Given the description of an element on the screen output the (x, y) to click on. 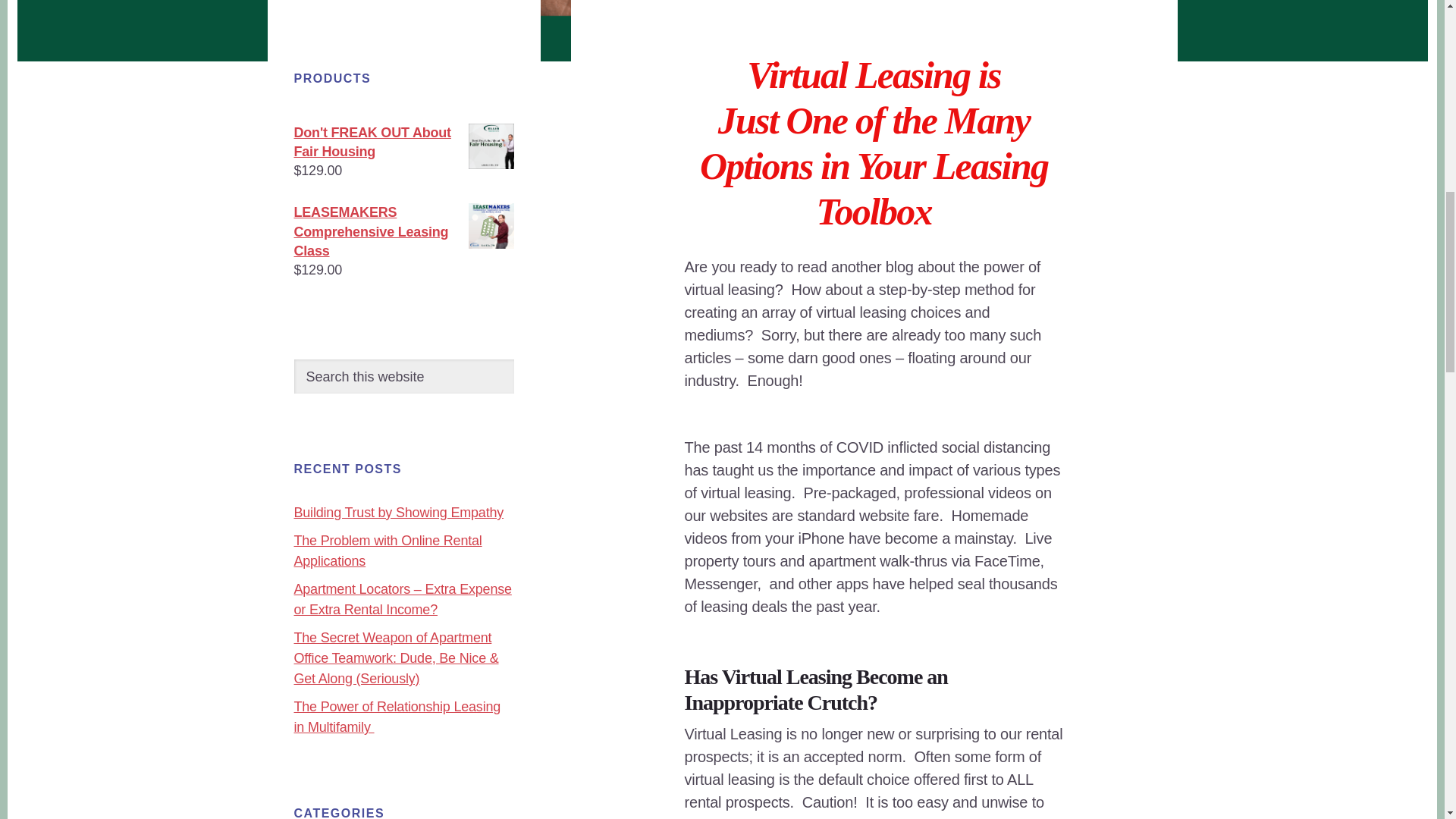
Don't FREAK OUT About Fair Housing (403, 142)
LEASEMAKERS Comprehensive Leasing Class (403, 232)
Building Trust by Showing Empathy (398, 512)
The Problem with Online Rental Applications (387, 550)
The Power of Relationship Leasing in Multifamily  (397, 716)
